Given the description of an element on the screen output the (x, y) to click on. 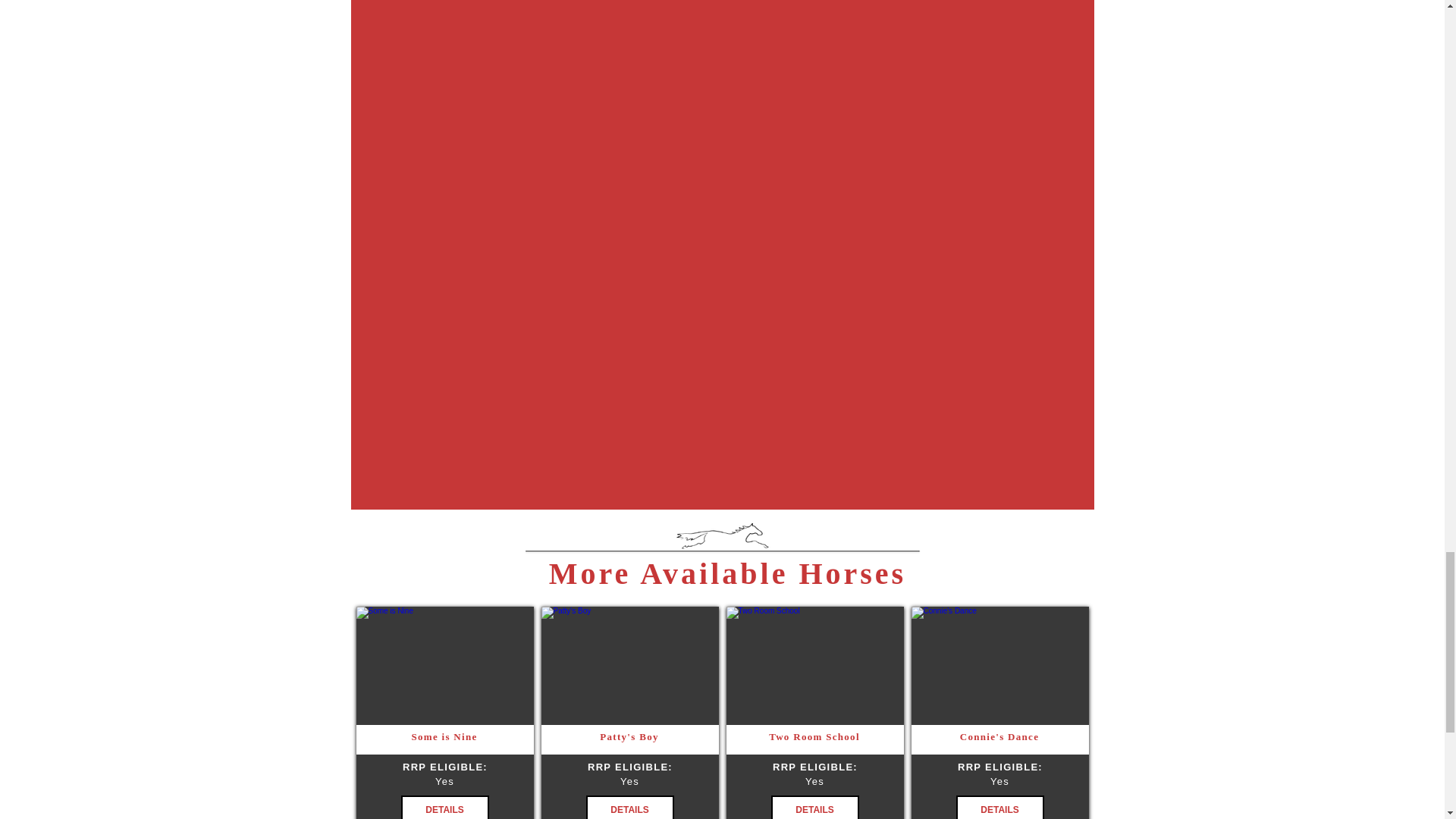
DETAILS (628, 807)
DETAILS (814, 807)
DETAILS (999, 807)
DETAILS (443, 807)
